Given the description of an element on the screen output the (x, y) to click on. 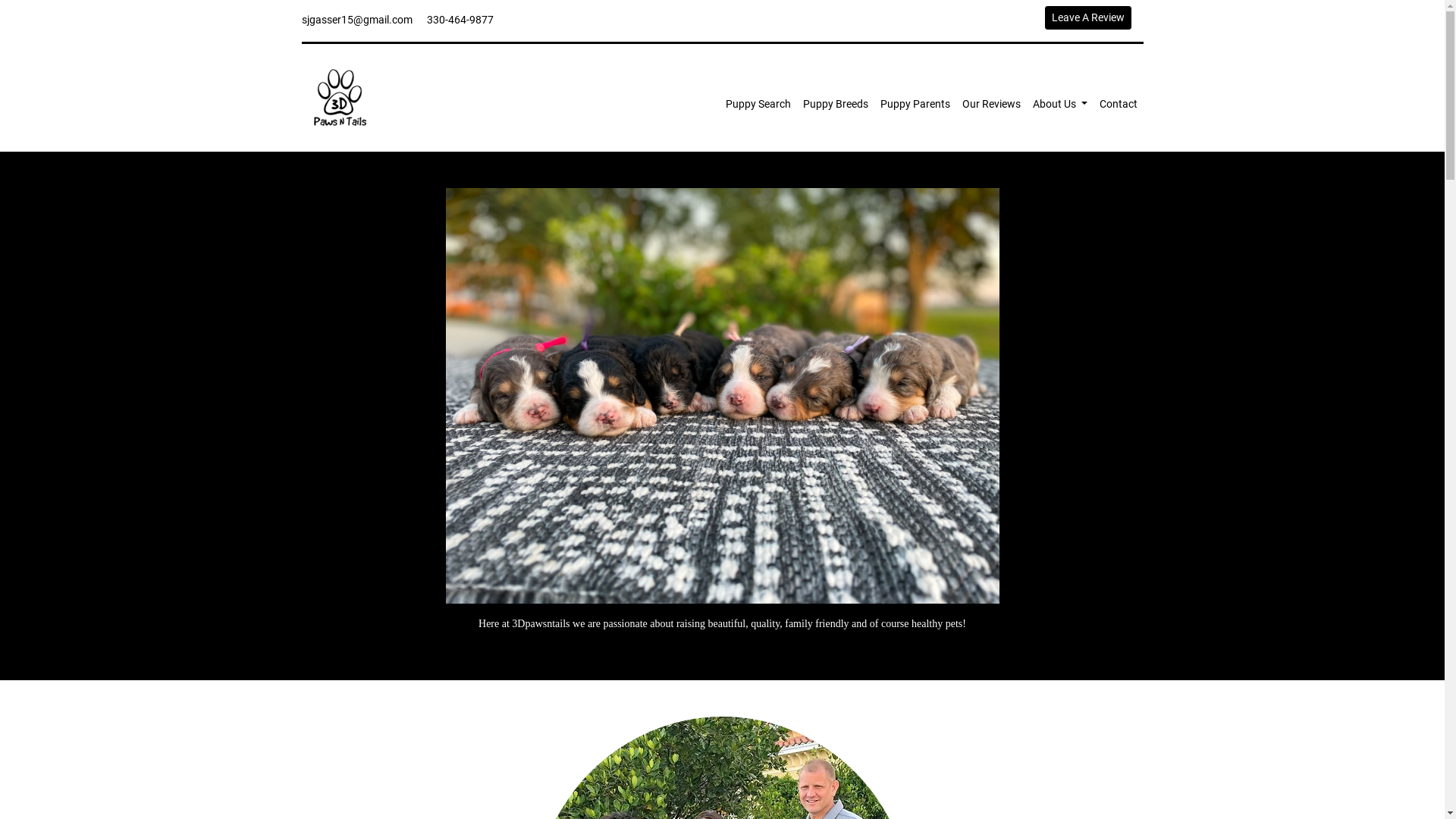
Puppy Parents Element type: text (915, 103)
About Us Element type: text (1059, 103)
330-464-9877 Element type: text (459, 19)
Contact Element type: text (1118, 103)
Leave A Review Element type: text (1087, 17)
Our Reviews Element type: text (991, 103)
Puppy Breeds Element type: text (835, 103)
sjgasser15@gmail.com Element type: text (356, 19)
Puppy Search Element type: text (758, 103)
